Given the description of an element on the screen output the (x, y) to click on. 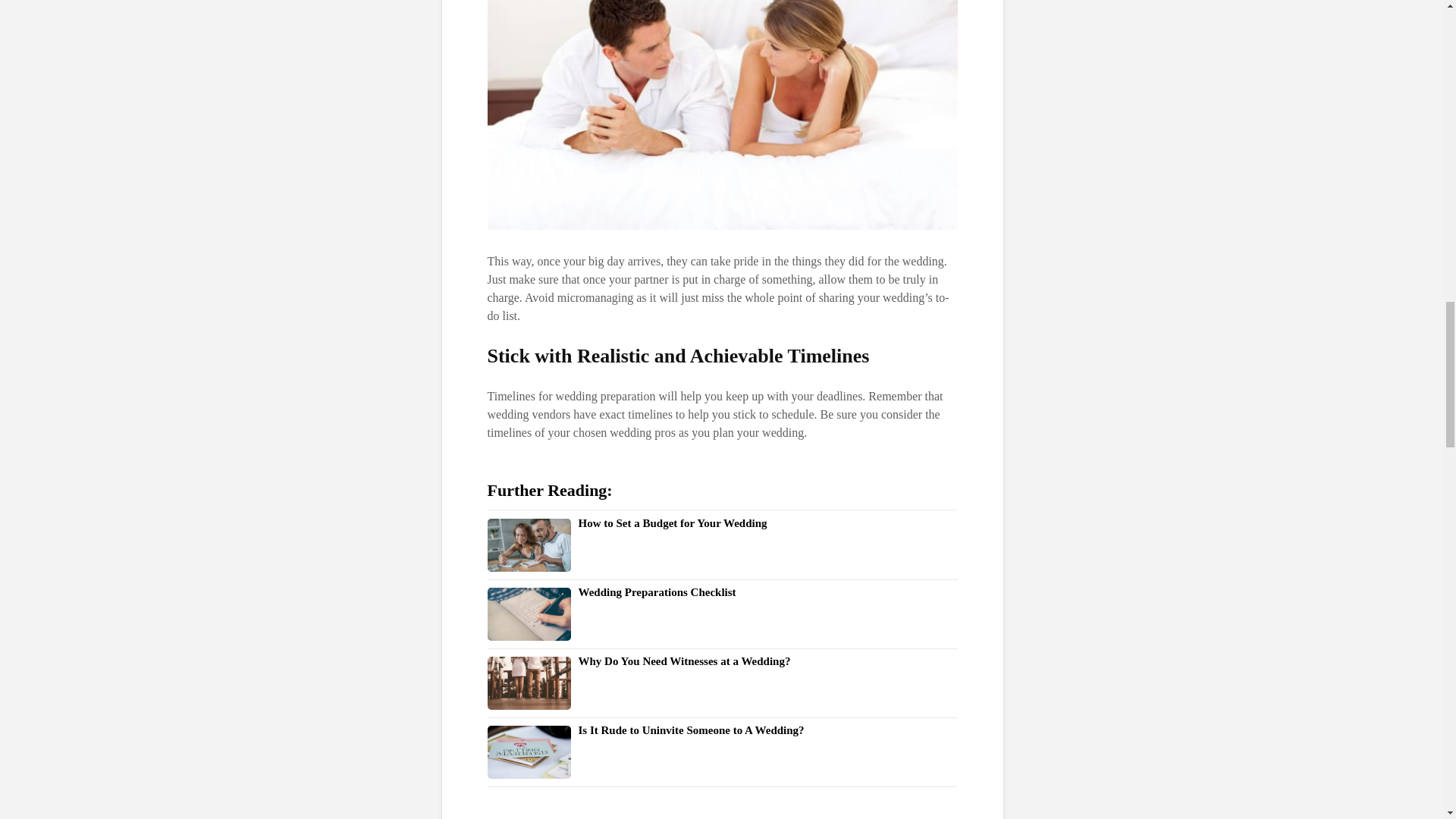
Why Do You Need Witnesses at a Wedding? (684, 661)
How to Set a Budget for Your Wedding (672, 522)
Wedding Preparations Checklist (656, 592)
Is It Rude to Uninvite Someone to A Wedding? (690, 729)
